Given the description of an element on the screen output the (x, y) to click on. 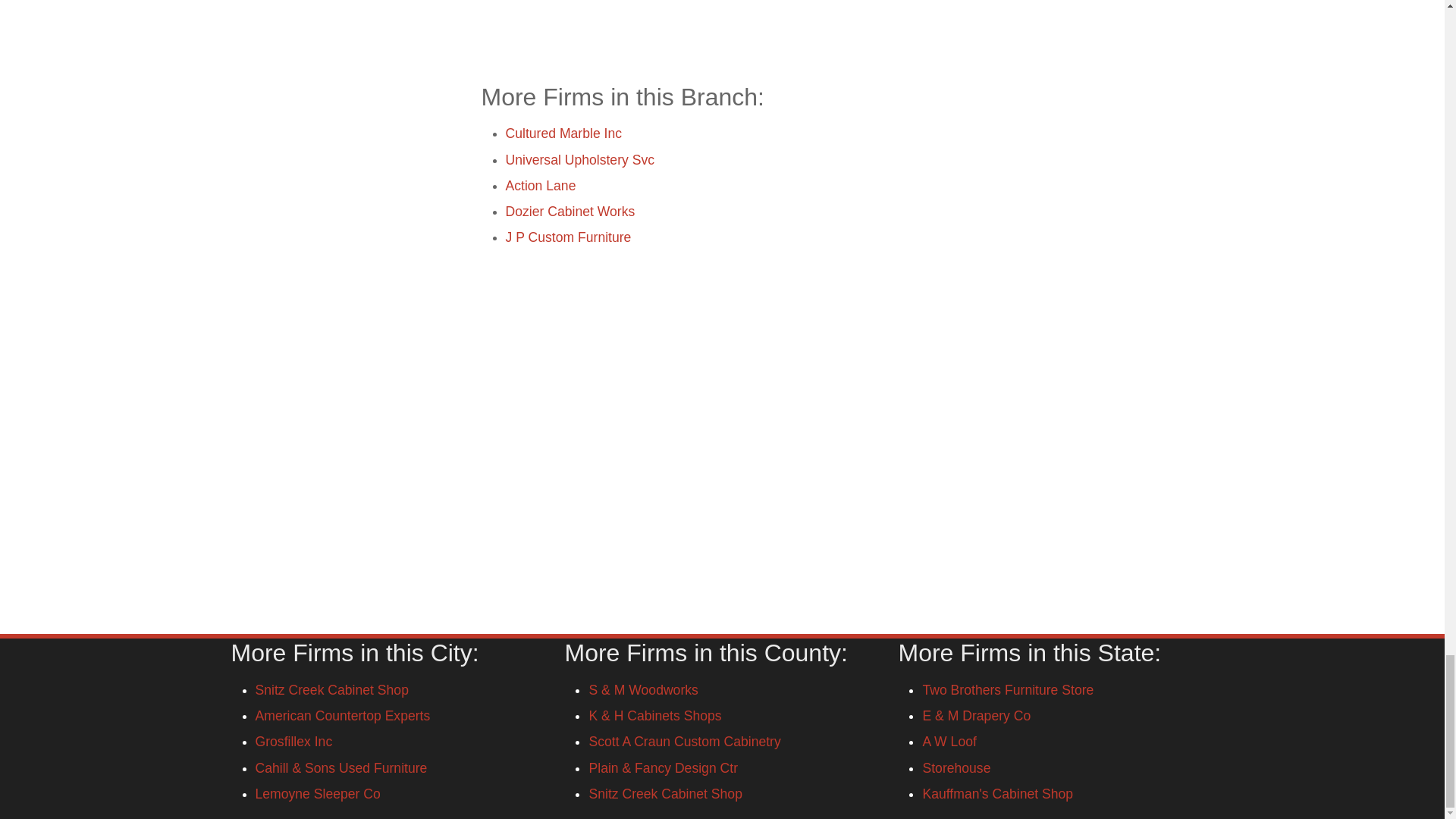
J P Custom Furniture (567, 237)
Dozier Cabinet Works (569, 211)
Action Lane (540, 185)
Universal Upholstery Svc (579, 159)
Cultured Marble Inc (563, 133)
